Given the description of an element on the screen output the (x, y) to click on. 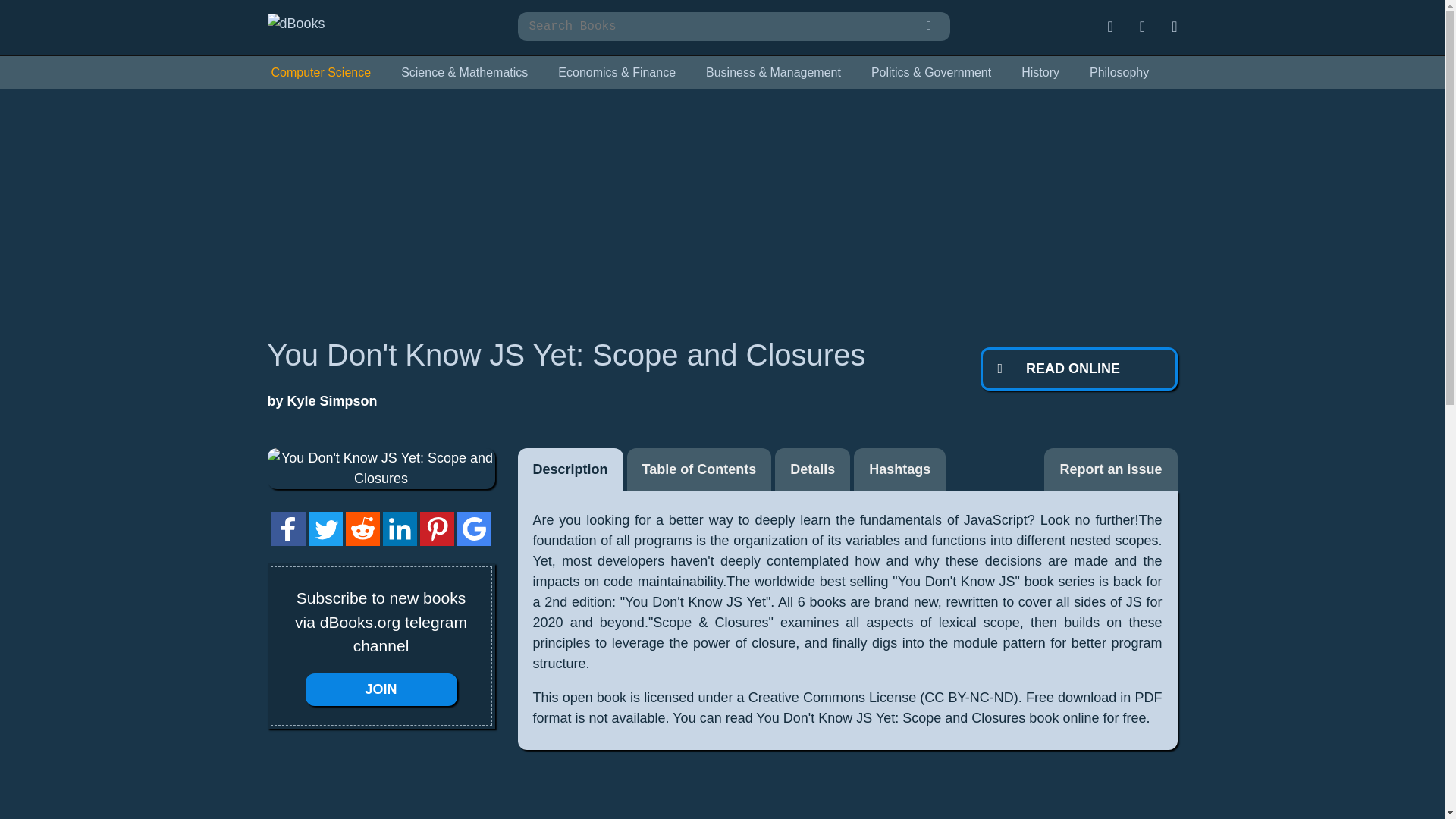
Business and Management (772, 72)
Report an issue (1109, 469)
Computer Science (320, 72)
Politics and Government (930, 72)
Science and Mathematics (464, 72)
Share to Reddit (362, 540)
Share to Twitter (324, 528)
Hashtags (898, 469)
Computer Science (320, 72)
Share to LinkedIn (398, 528)
Share to Pinterest (437, 528)
JOIN (380, 689)
Share to Pinterest (437, 540)
dBooks.org (295, 23)
Philosophy (1119, 72)
